Given the description of an element on the screen output the (x, y) to click on. 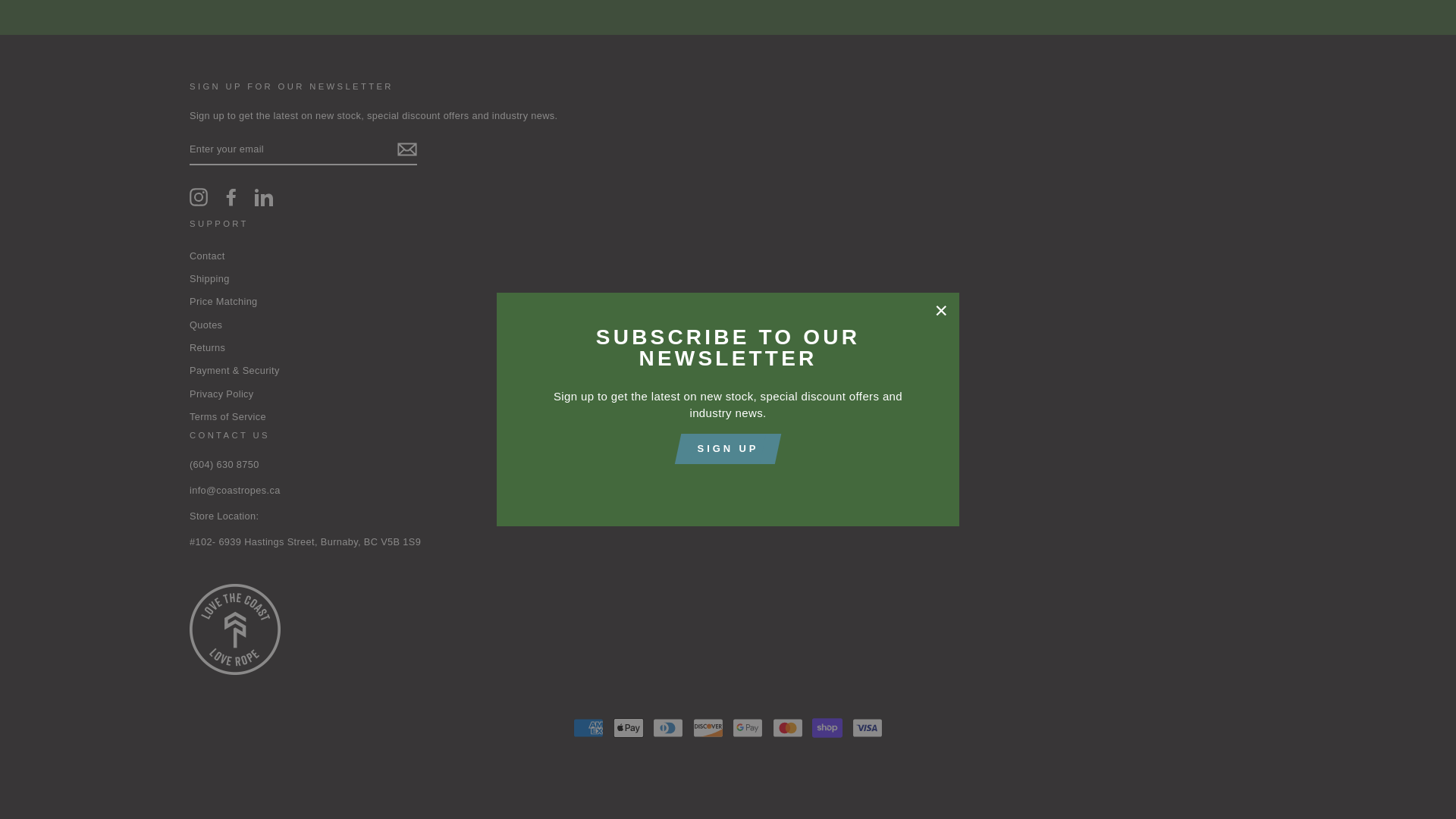
Visa (866, 727)
Mastercard (788, 727)
American Express (588, 727)
Diners Club (667, 727)
Apple Pay (627, 727)
Google Pay (747, 727)
Discover (708, 727)
Shop Pay (827, 727)
